Given the description of an element on the screen output the (x, y) to click on. 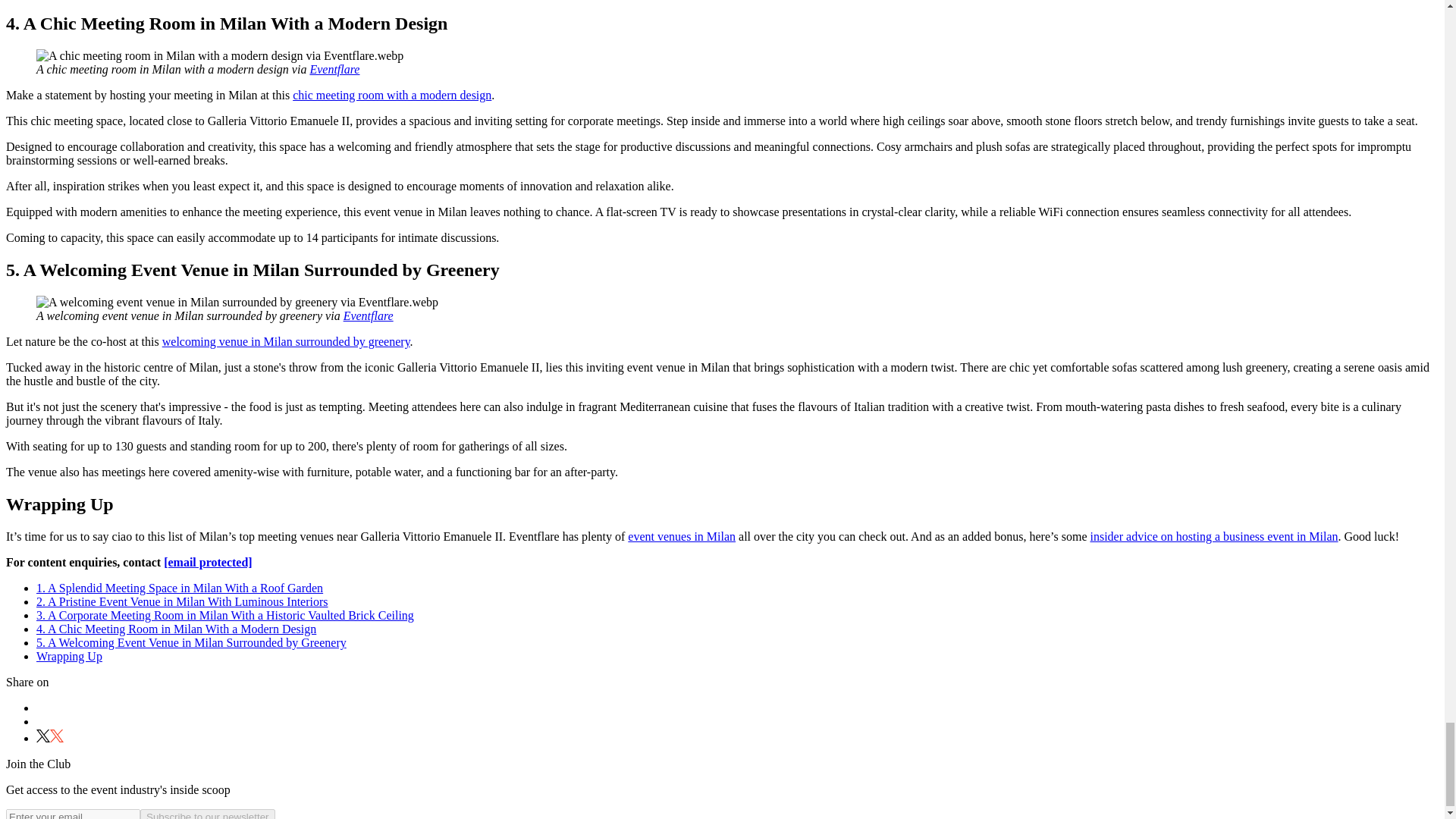
2. A Pristine Event Venue in Milan With Luminous Interiors (182, 601)
Eventflare (368, 315)
insider advice on hosting a business event in Milan (1213, 535)
5. A Welcoming Event Venue in Milan Surrounded by Greenery (191, 642)
5. A Welcoming Event Venue in Milan Surrounded by Greenery (191, 642)
4. A Chic Meeting Room in Milan With a Modern Design (175, 628)
Eventflare (333, 69)
Wrapping Up (68, 656)
1. A Splendid Meeting Space in Milan With a Roof Garden (179, 587)
chic meeting room with a modern design (392, 94)
2. A Pristine Event Venue in Milan With Luminous Interiors (182, 601)
event venues in Milan (681, 535)
Wrapping Up (68, 656)
